Given the description of an element on the screen output the (x, y) to click on. 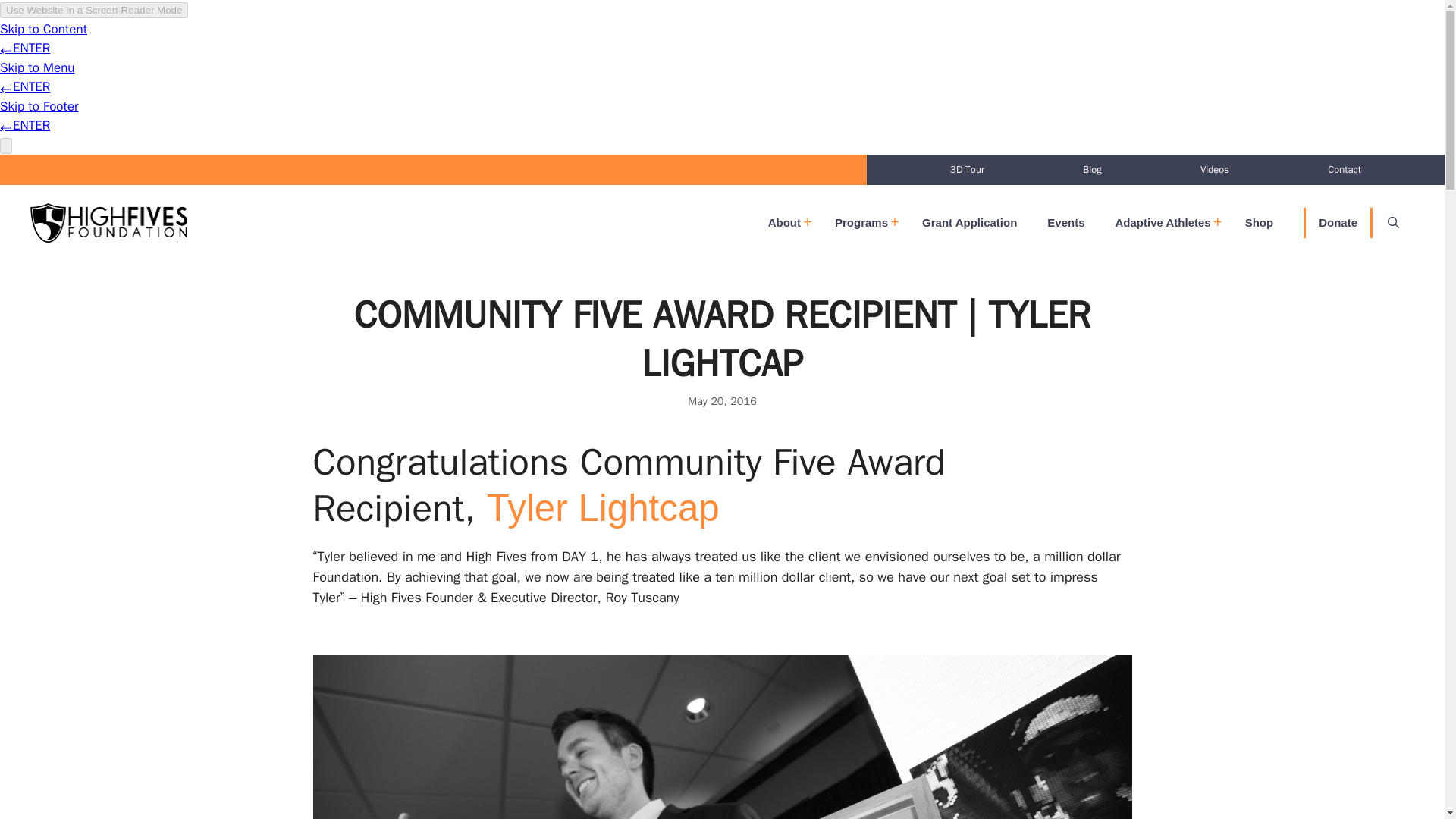
Contact (1344, 169)
Donate (1338, 222)
Blog (1091, 169)
Programs (863, 222)
Events (1065, 222)
Shop (1259, 222)
Adaptive Athletes (1165, 222)
Grant Application (969, 222)
About (785, 222)
Videos (1214, 169)
3D Tour (966, 169)
